Given the description of an element on the screen output the (x, y) to click on. 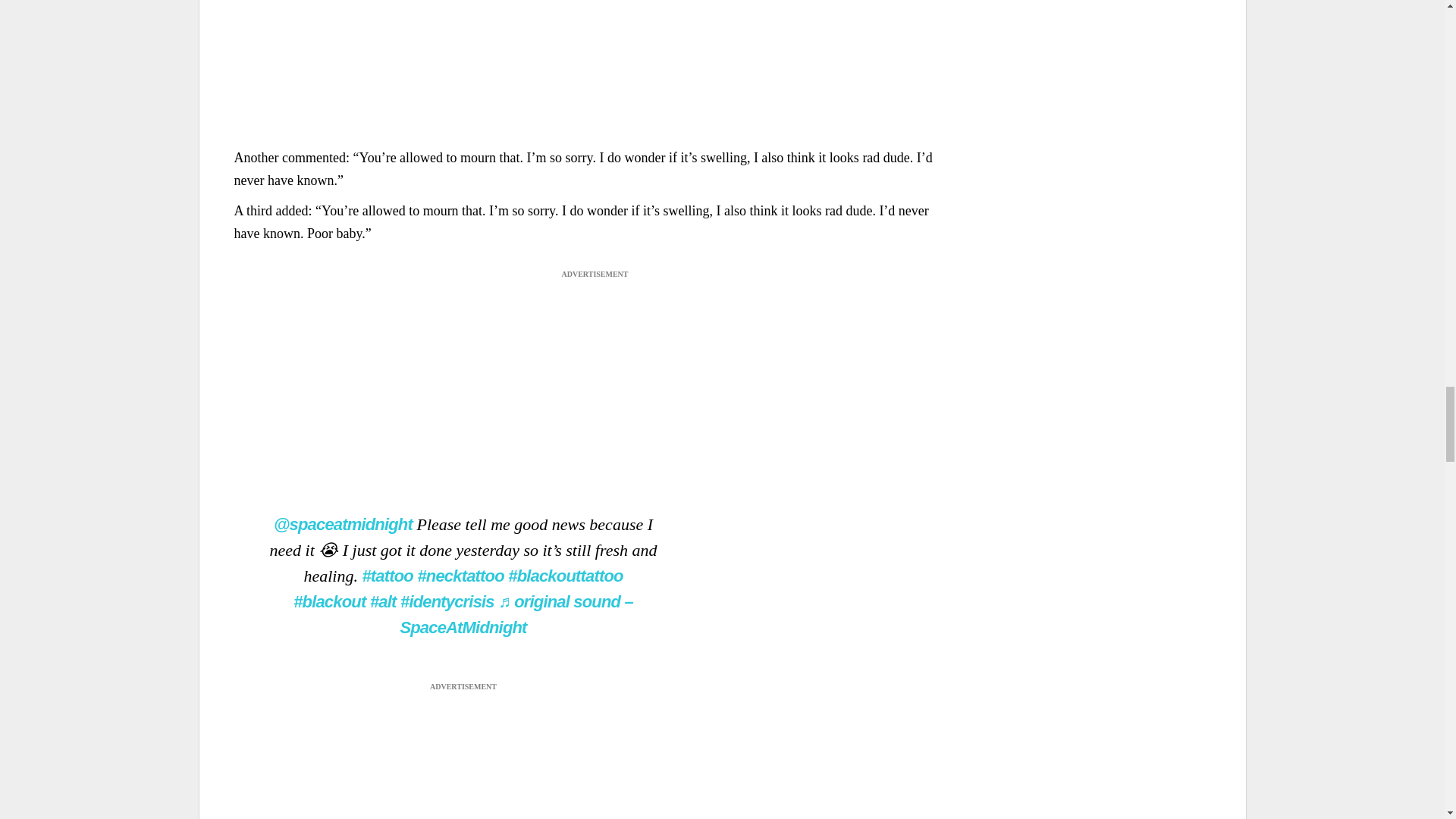
blackouttattoo (565, 575)
necktattoo (459, 575)
tattoo (387, 575)
alt (382, 601)
identycrisis (447, 601)
blackout (329, 601)
